Given the description of an element on the screen output the (x, y) to click on. 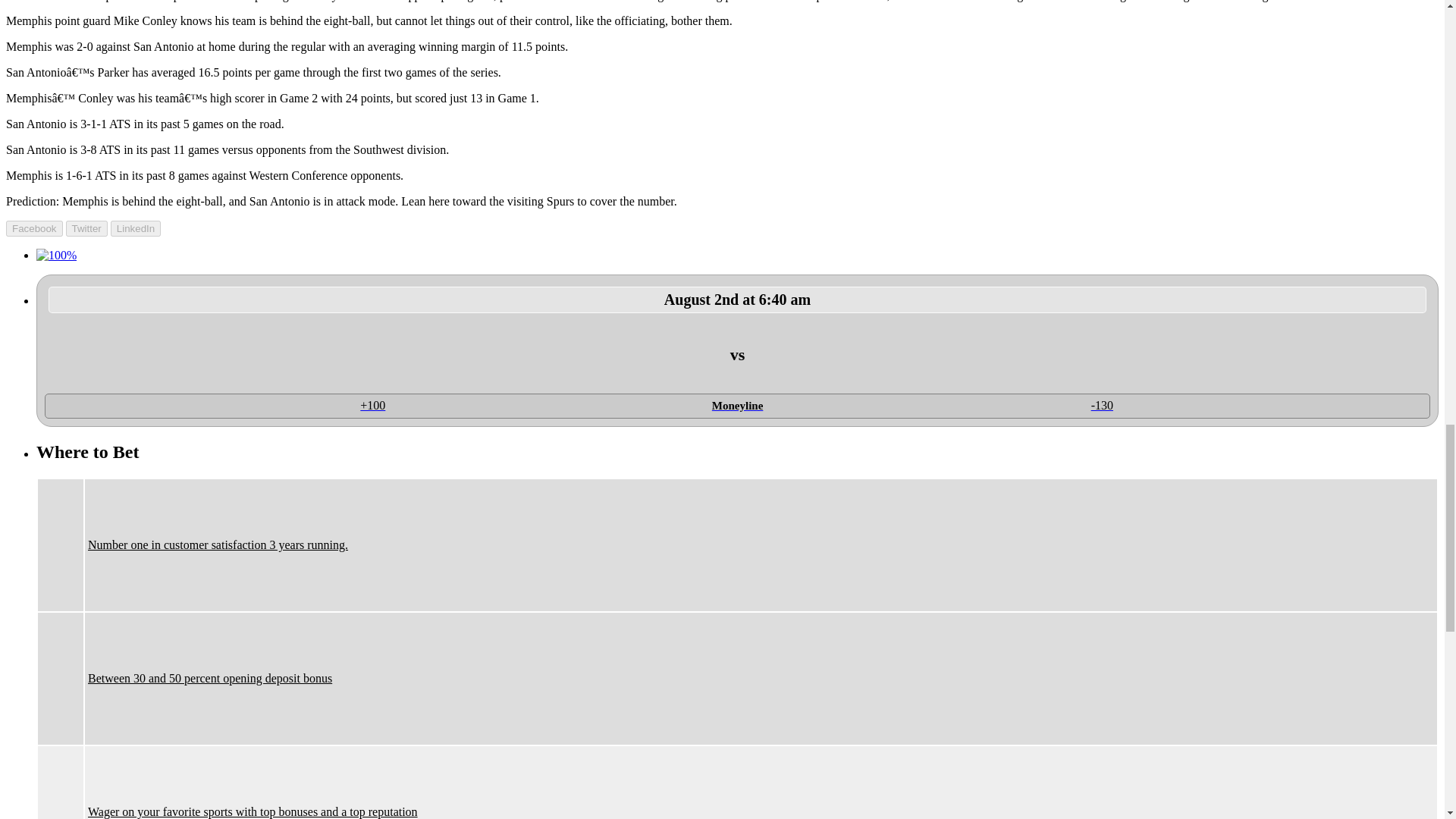
Detroit Tigers (378, 354)
Kansas City Royals (1095, 367)
